Given the description of an element on the screen output the (x, y) to click on. 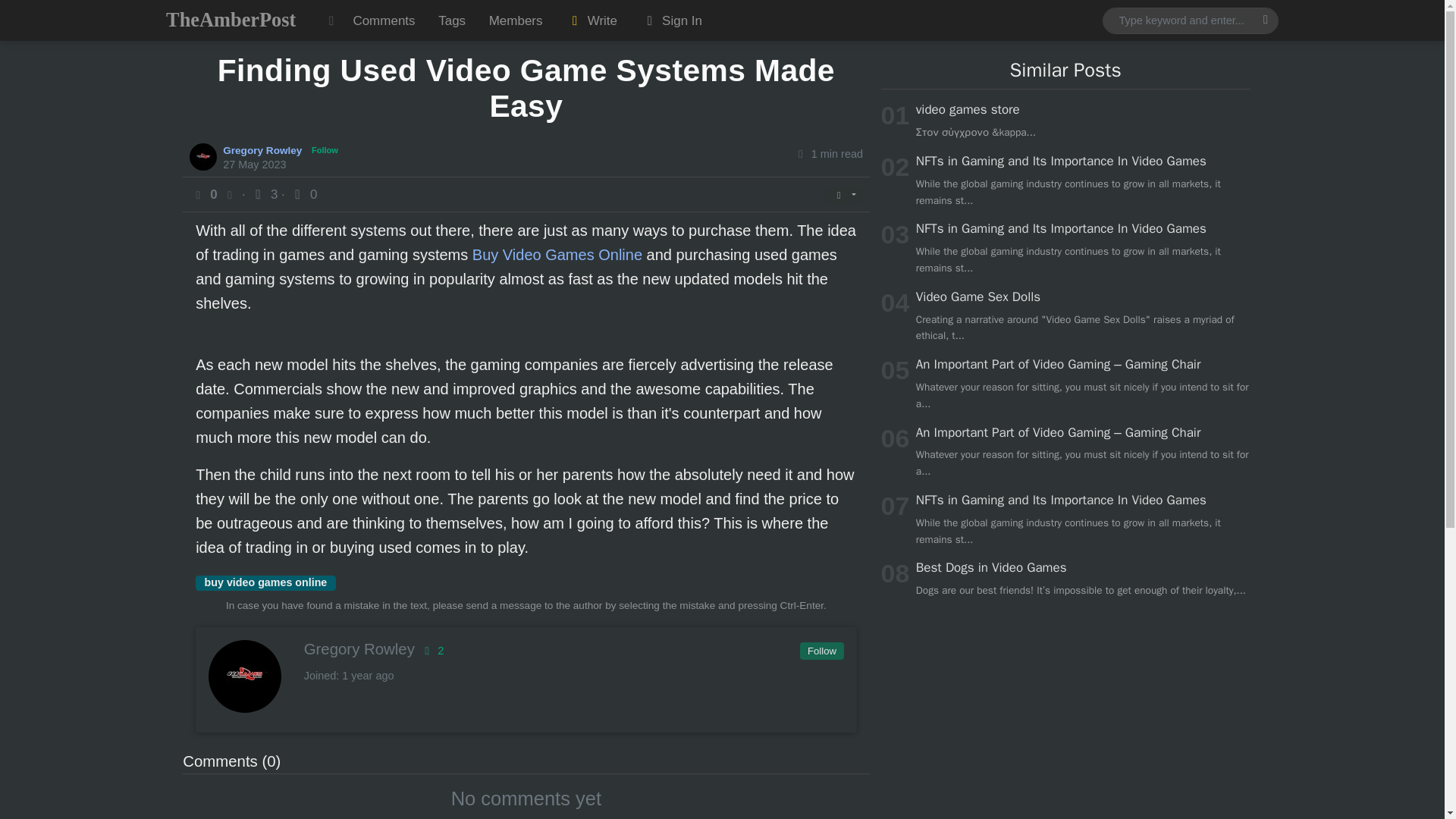
Tags (451, 20)
TheAmberPost (230, 20)
Gregory Rowley (263, 149)
Best Dogs in Video Games (991, 567)
Gregory Rowley 2 (525, 648)
Follow (324, 150)
Sign In (670, 20)
0 (302, 194)
Rating (431, 650)
buy video games online (265, 582)
